Given the description of an element on the screen output the (x, y) to click on. 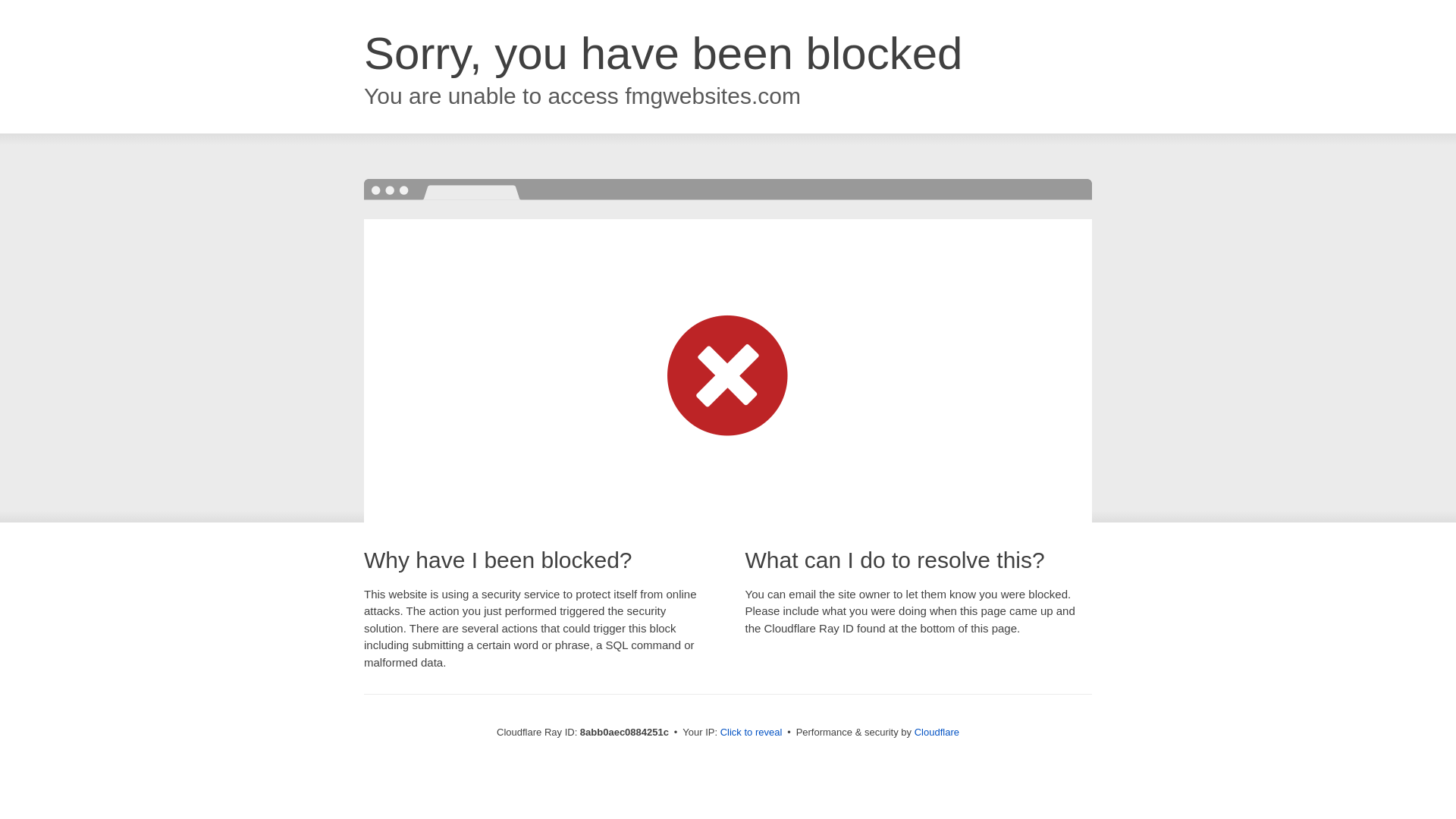
Cloudflare (936, 731)
Click to reveal (751, 732)
